Given the description of an element on the screen output the (x, y) to click on. 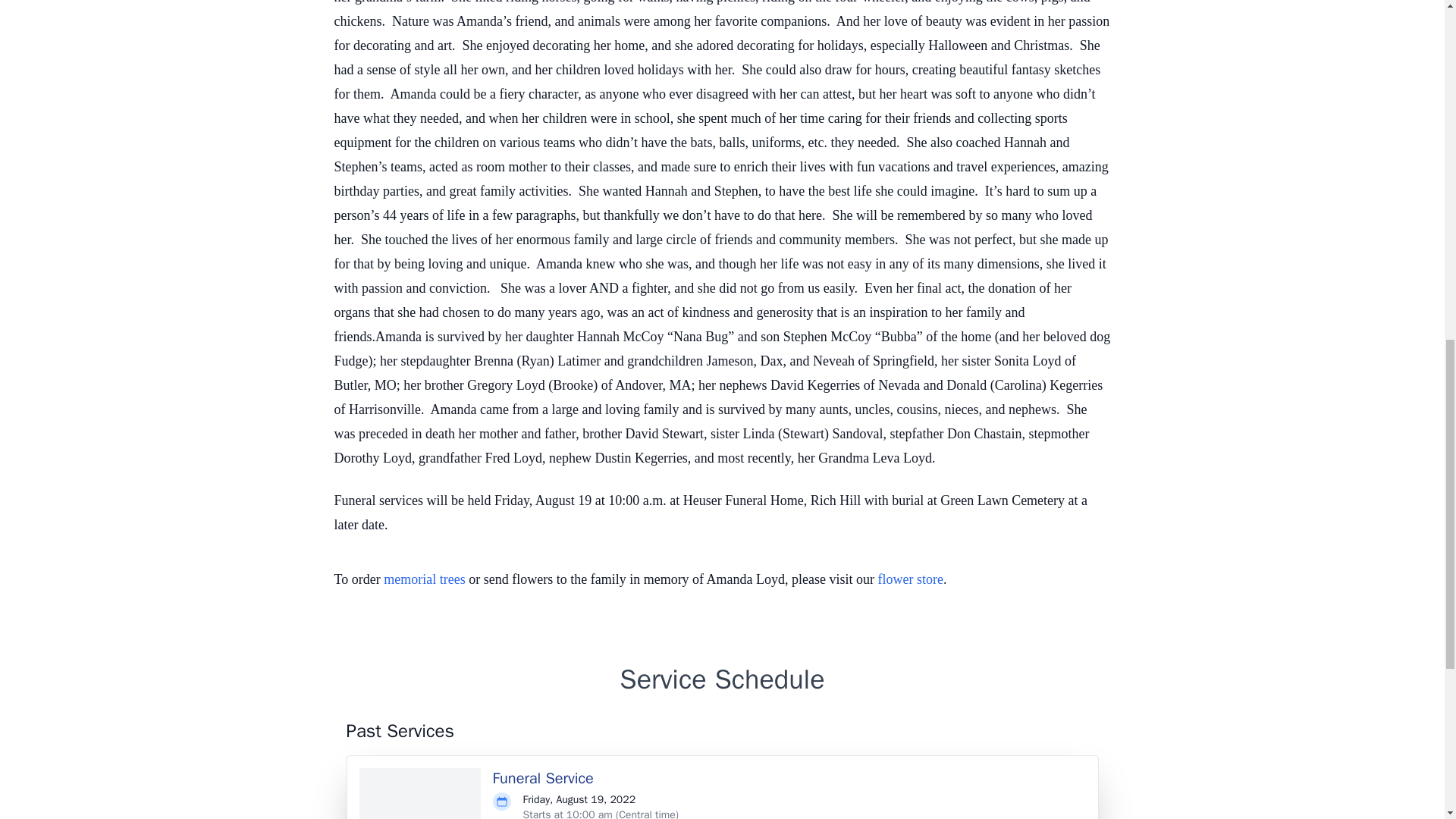
memorial trees (424, 579)
flower store (910, 579)
